Given the description of an element on the screen output the (x, y) to click on. 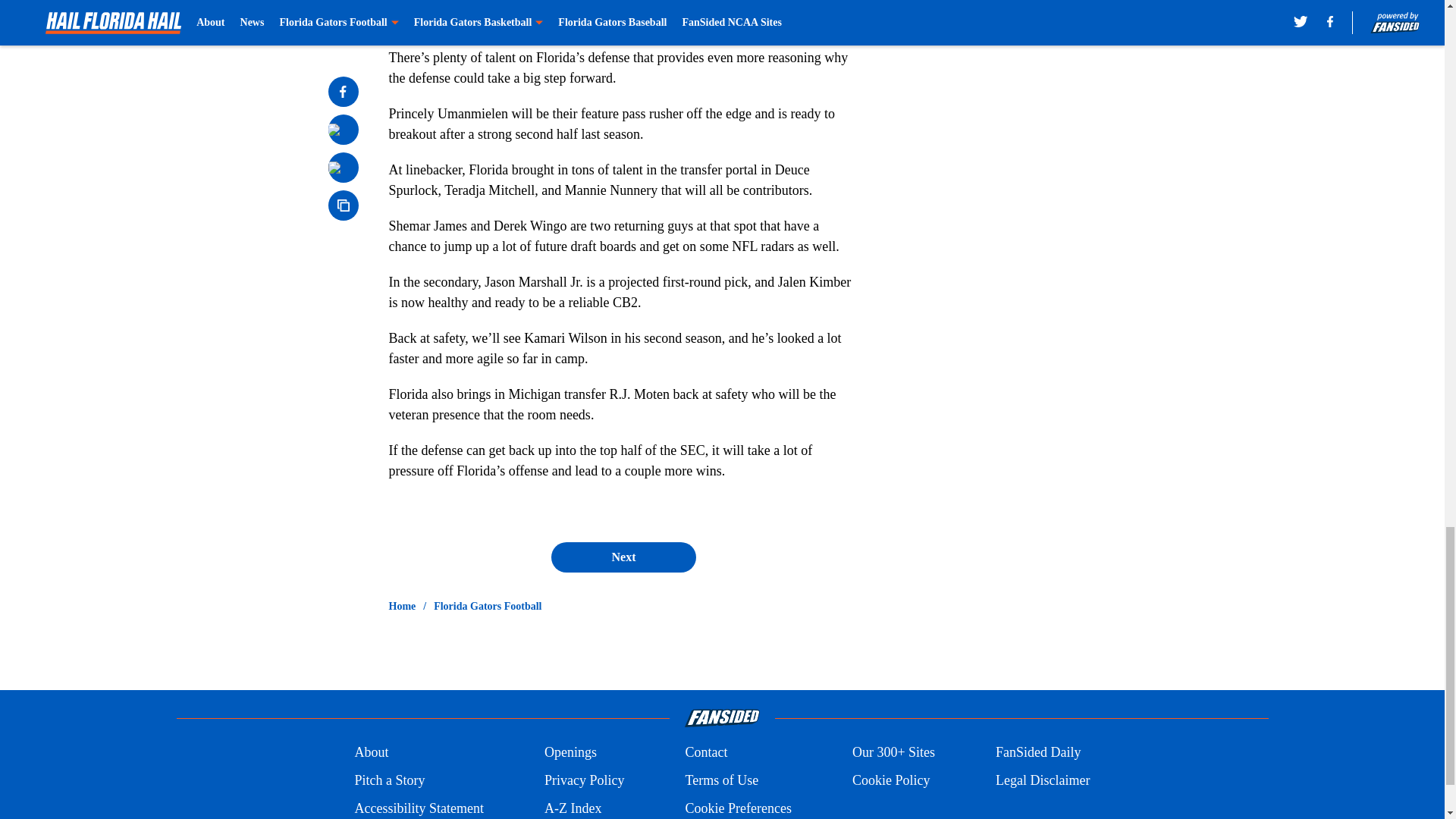
About (370, 752)
Openings (570, 752)
Contact (705, 752)
Terms of Use (721, 780)
Home (401, 606)
Legal Disclaimer (1042, 780)
Accessibility Statement (418, 808)
Florida Gators Football (487, 606)
Next (622, 557)
A-Z Index (572, 808)
